Given the description of an element on the screen output the (x, y) to click on. 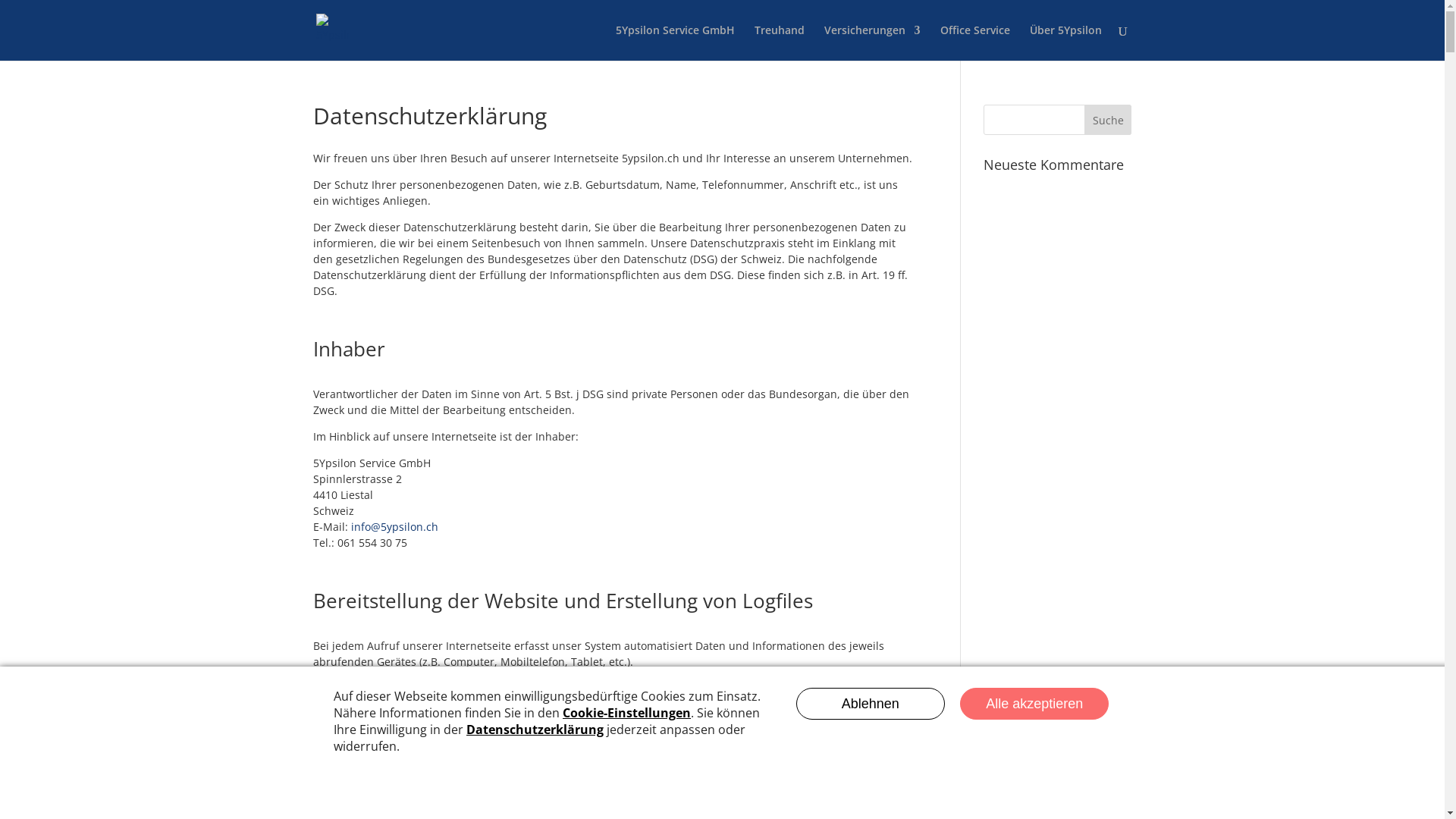
Suche Element type: text (1108, 119)
info@5ypsilon.ch Element type: text (393, 526)
Treuhand Element type: text (778, 42)
Office Service Element type: text (975, 42)
5Ypsilon Service GmbH Element type: text (674, 42)
Versicherungen Element type: text (871, 42)
